Given the description of an element on the screen output the (x, y) to click on. 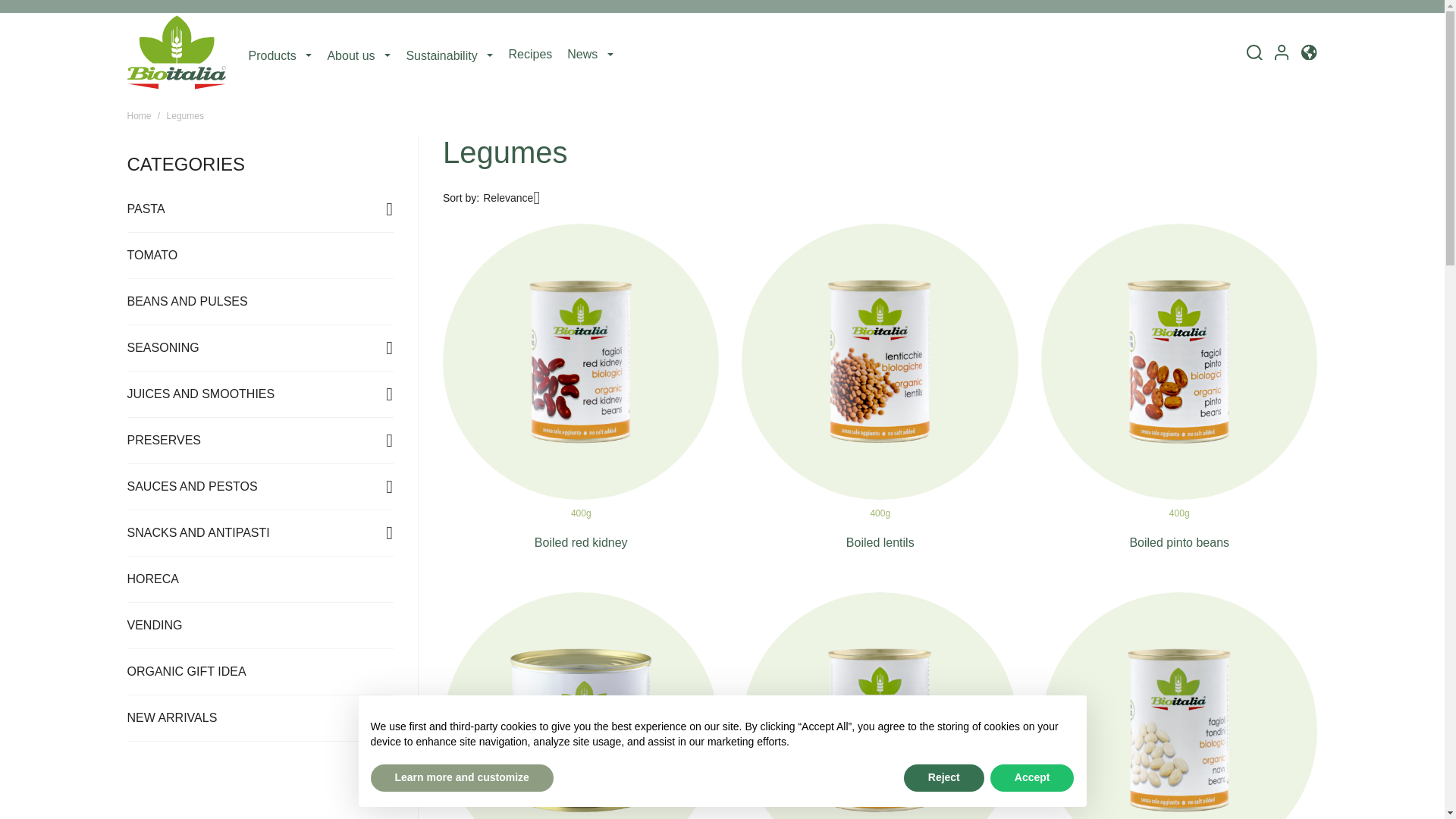
Products (280, 55)
About us (358, 55)
